Given the description of an element on the screen output the (x, y) to click on. 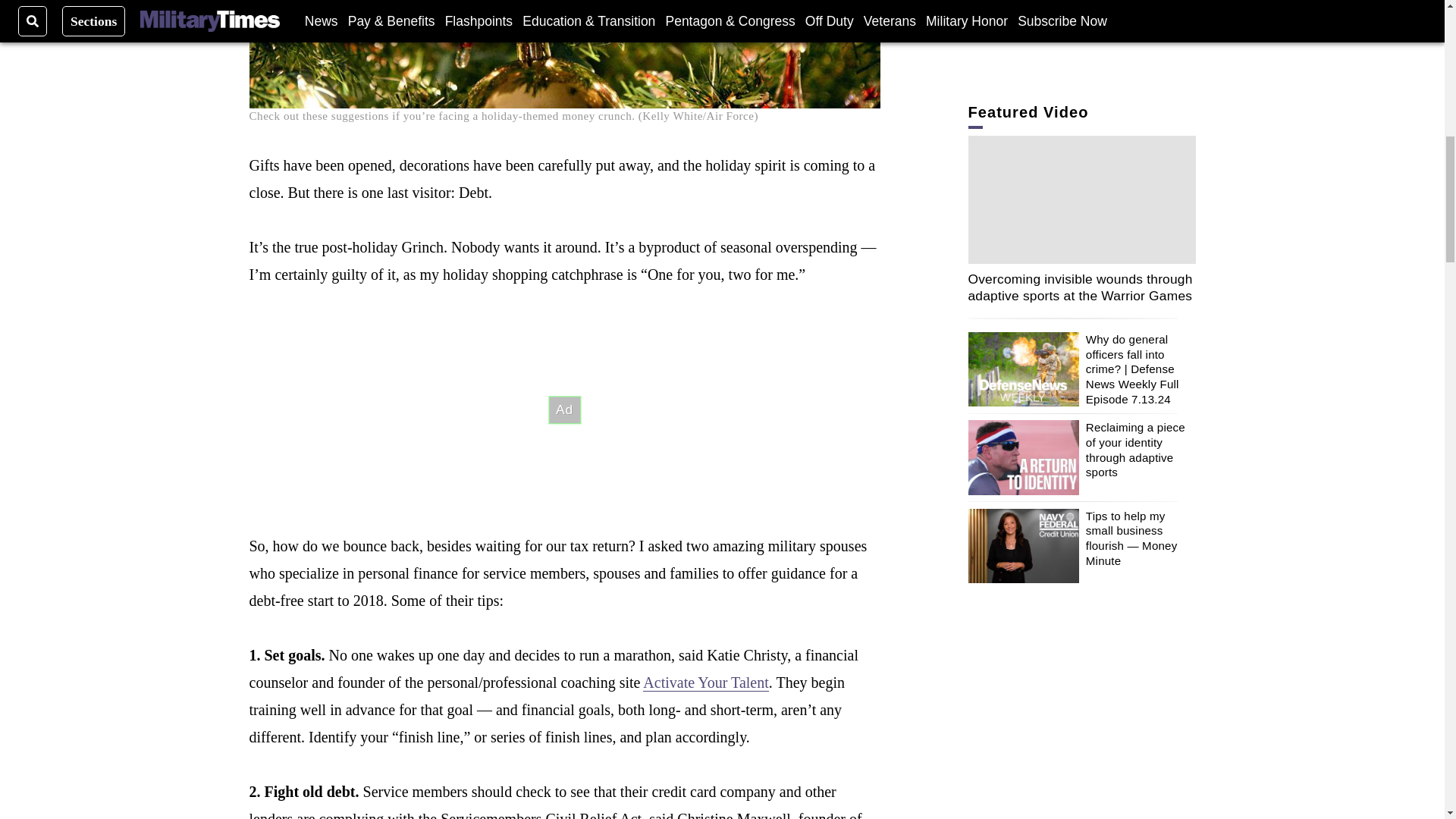
3rd party ad content (1081, 780)
3rd party ad content (563, 410)
